Given the description of an element on the screen output the (x, y) to click on. 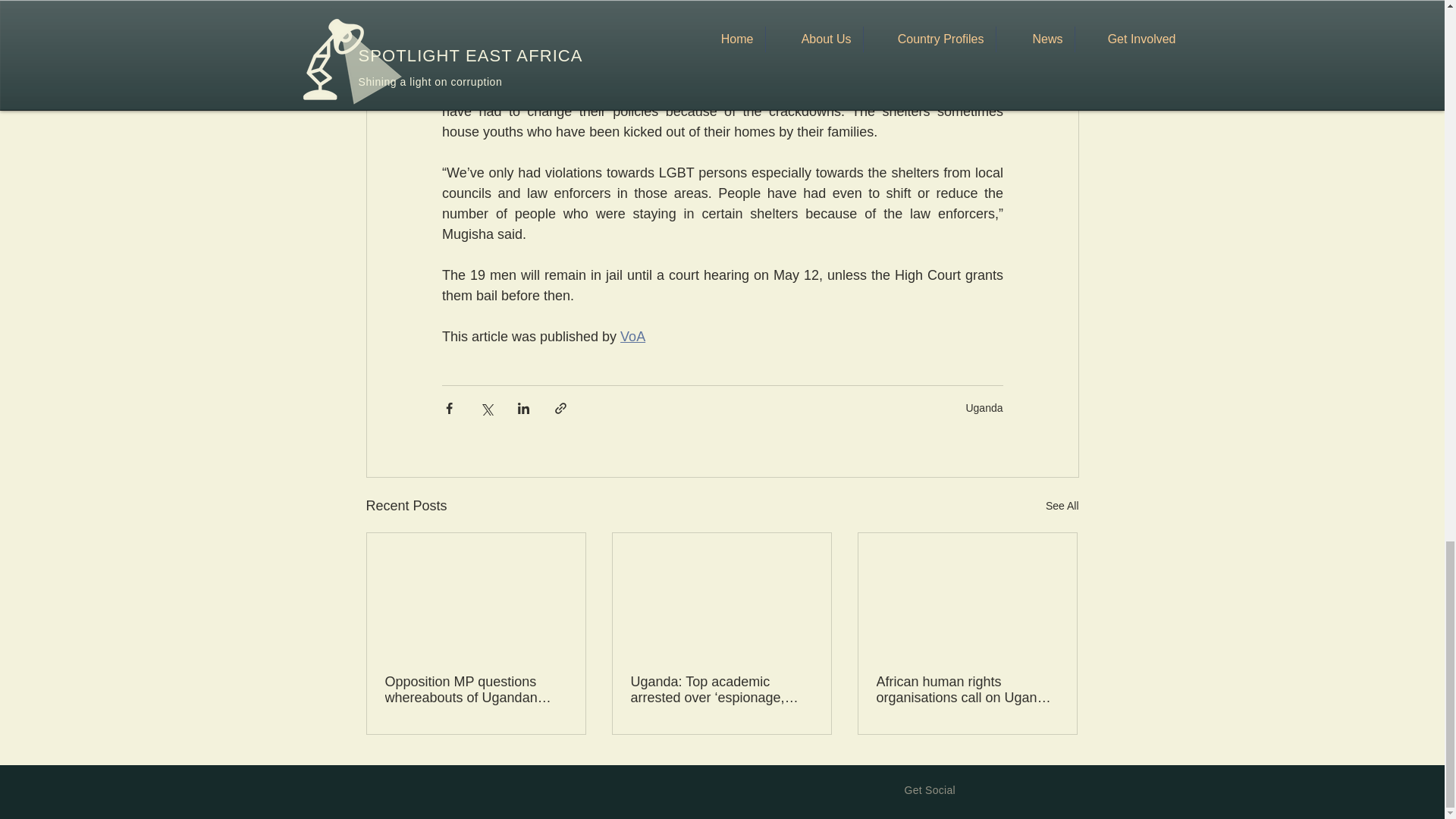
Uganda (984, 408)
VoA (632, 336)
See All (1061, 505)
